Given the description of an element on the screen output the (x, y) to click on. 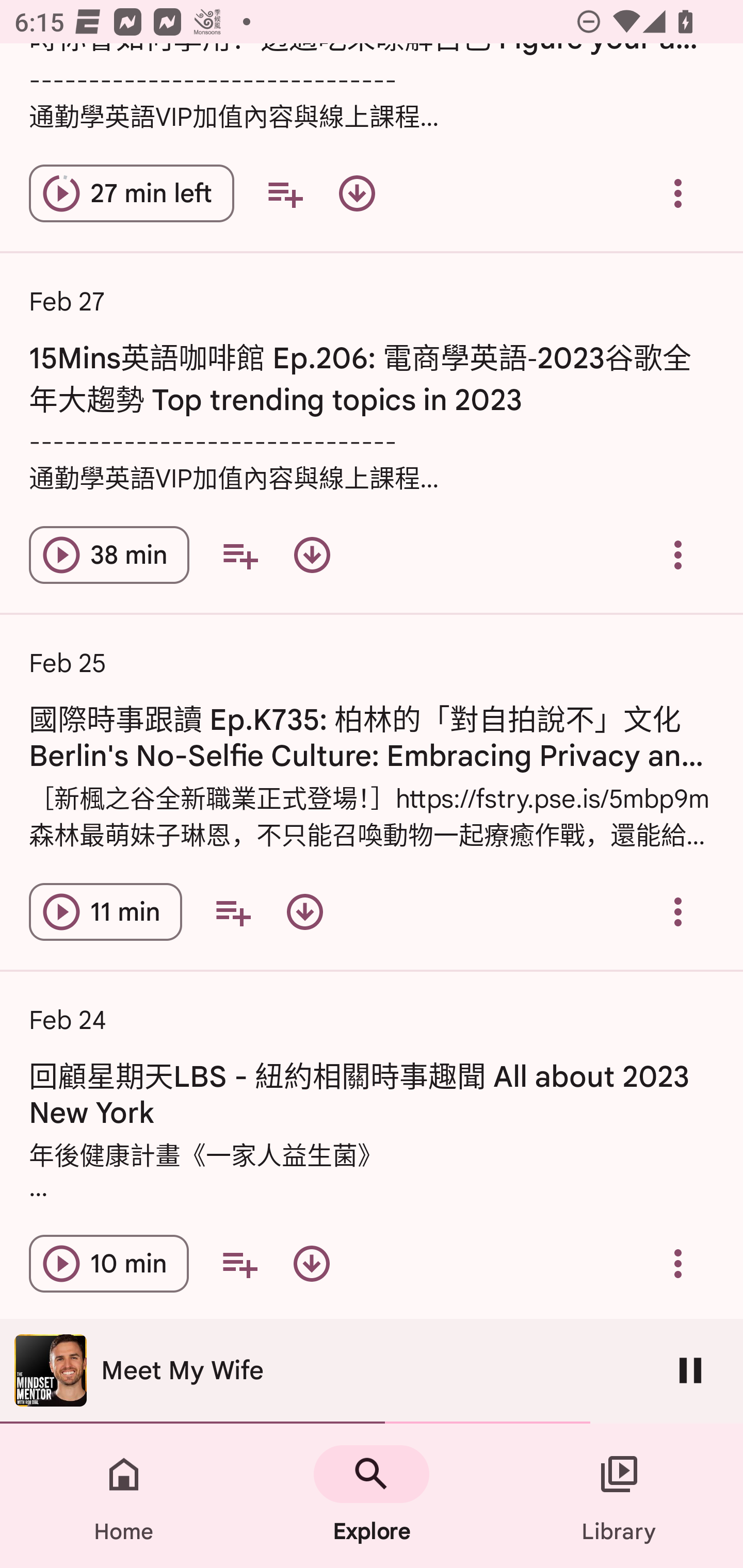
Add to your queue (284, 193)
Download episode (356, 193)
Overflow menu (677, 193)
Add to your queue (239, 554)
Download episode (312, 554)
Overflow menu (677, 554)
Add to your queue (232, 911)
Download episode (304, 911)
Overflow menu (677, 911)
Add to your queue (239, 1263)
Download episode (311, 1263)
Overflow menu (677, 1263)
Pause (690, 1370)
Home (123, 1495)
Library (619, 1495)
